Given the description of an element on the screen output the (x, y) to click on. 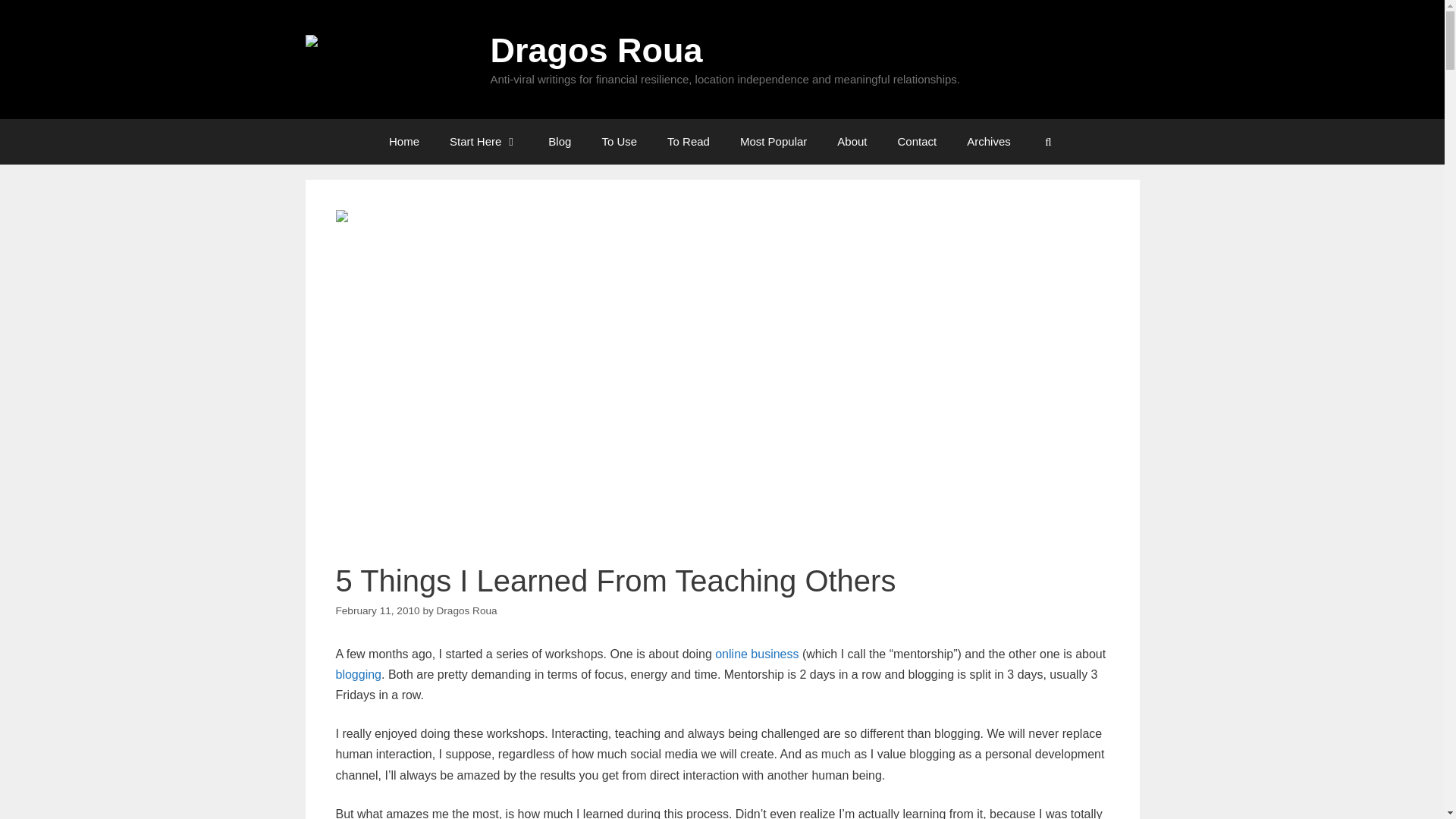
Dragos Roua (466, 610)
blogging (357, 674)
To Read (688, 140)
Dragos Roua (387, 59)
Blog (559, 140)
View all posts by Dragos Roua (466, 610)
Most Popular (773, 140)
Home (403, 140)
Start Here (482, 140)
To Use (619, 140)
online business (755, 653)
About (852, 140)
starting an online business (755, 653)
Archives (989, 140)
Dragos Roua (595, 50)
